Given the description of an element on the screen output the (x, y) to click on. 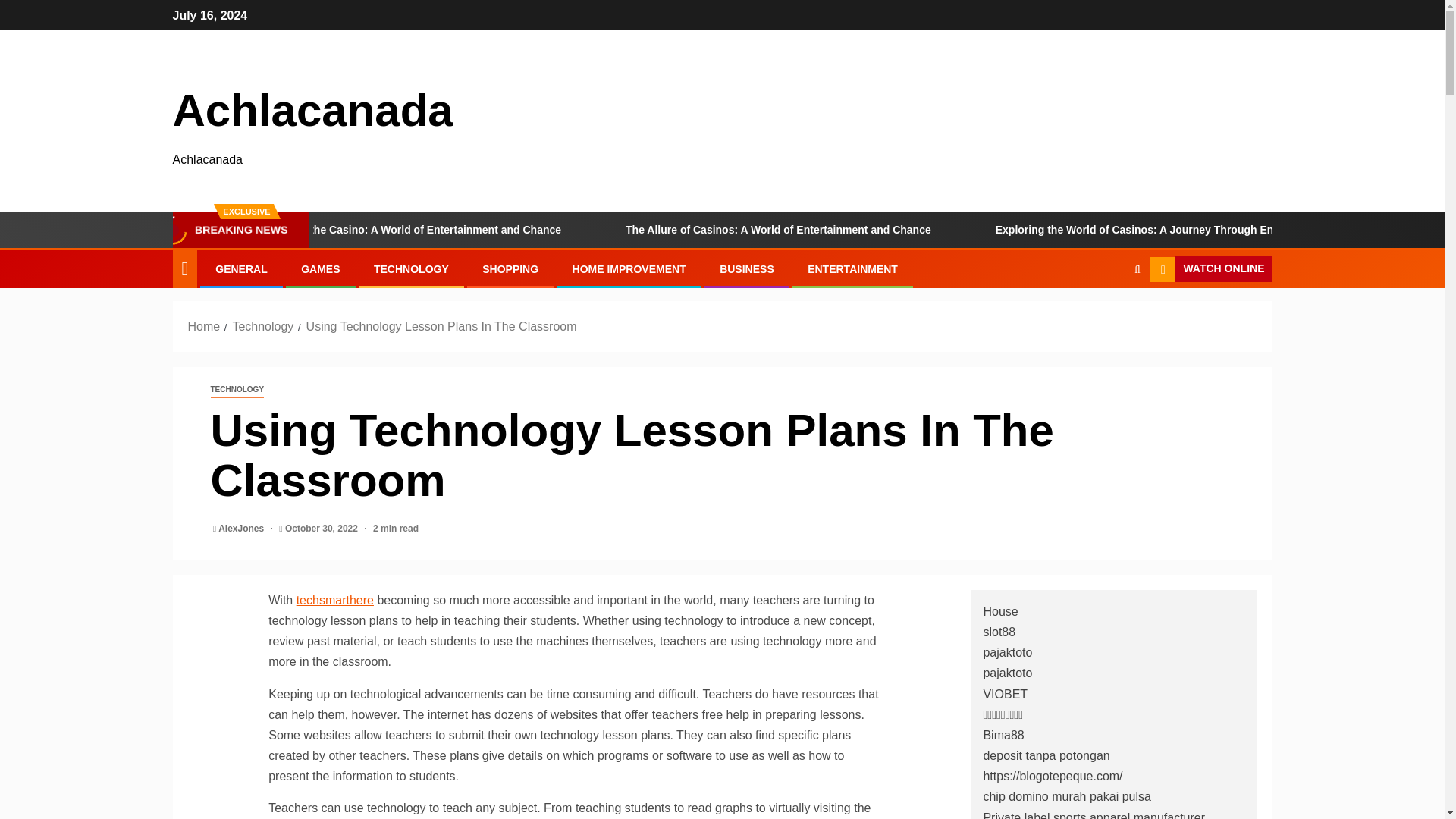
TECHNOLOGY (237, 390)
The Allure of Casinos: A World of Entertainment and Chance (874, 229)
Achlacanada (312, 110)
BUSINESS (746, 268)
HOME IMPROVEMENT (628, 268)
TECHNOLOGY (411, 268)
Search (1107, 315)
SHOPPING (509, 268)
Home (204, 326)
WATCH ONLINE (1210, 268)
ENTERTAINMENT (853, 268)
Technology (262, 326)
GENERAL (240, 268)
techsmarthere (335, 599)
